Given the description of an element on the screen output the (x, y) to click on. 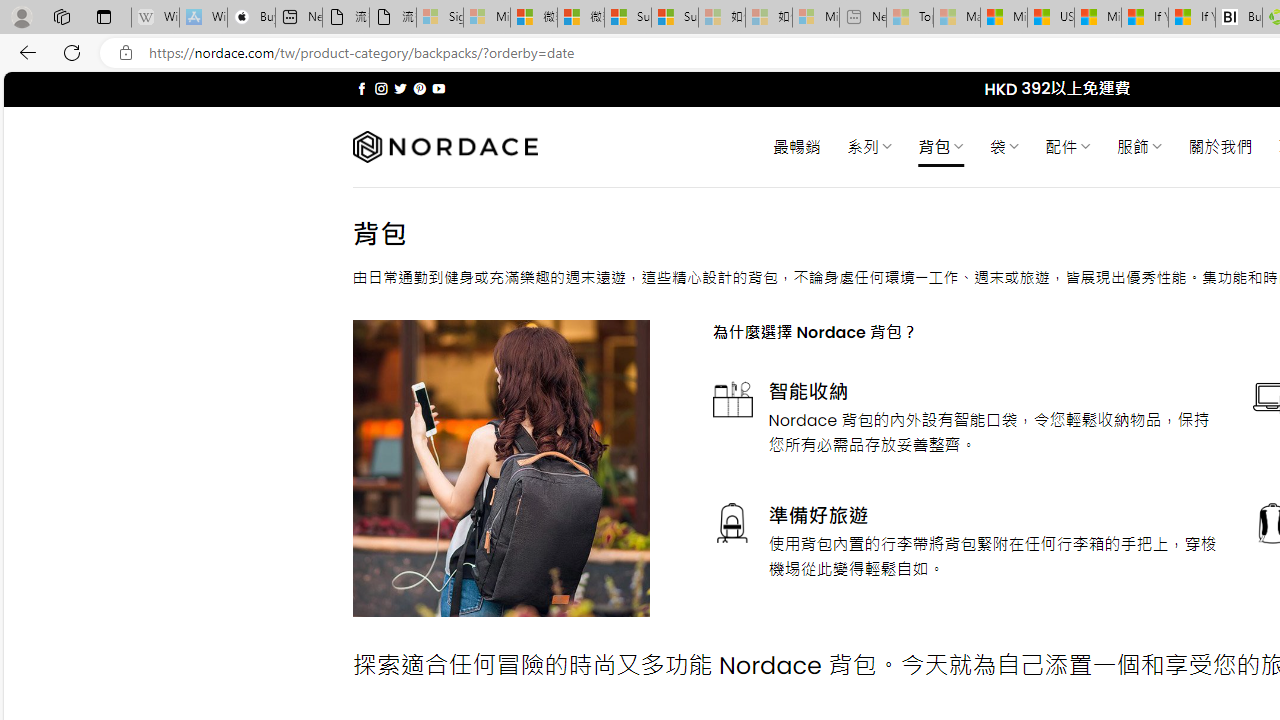
Nordace (444, 147)
New tab - Sleeping (862, 17)
Buy iPad - Apple (251, 17)
Follow on YouTube (438, 88)
Workspaces (61, 16)
Sign in to your Microsoft account - Sleeping (440, 17)
